Given the description of an element on the screen output the (x, y) to click on. 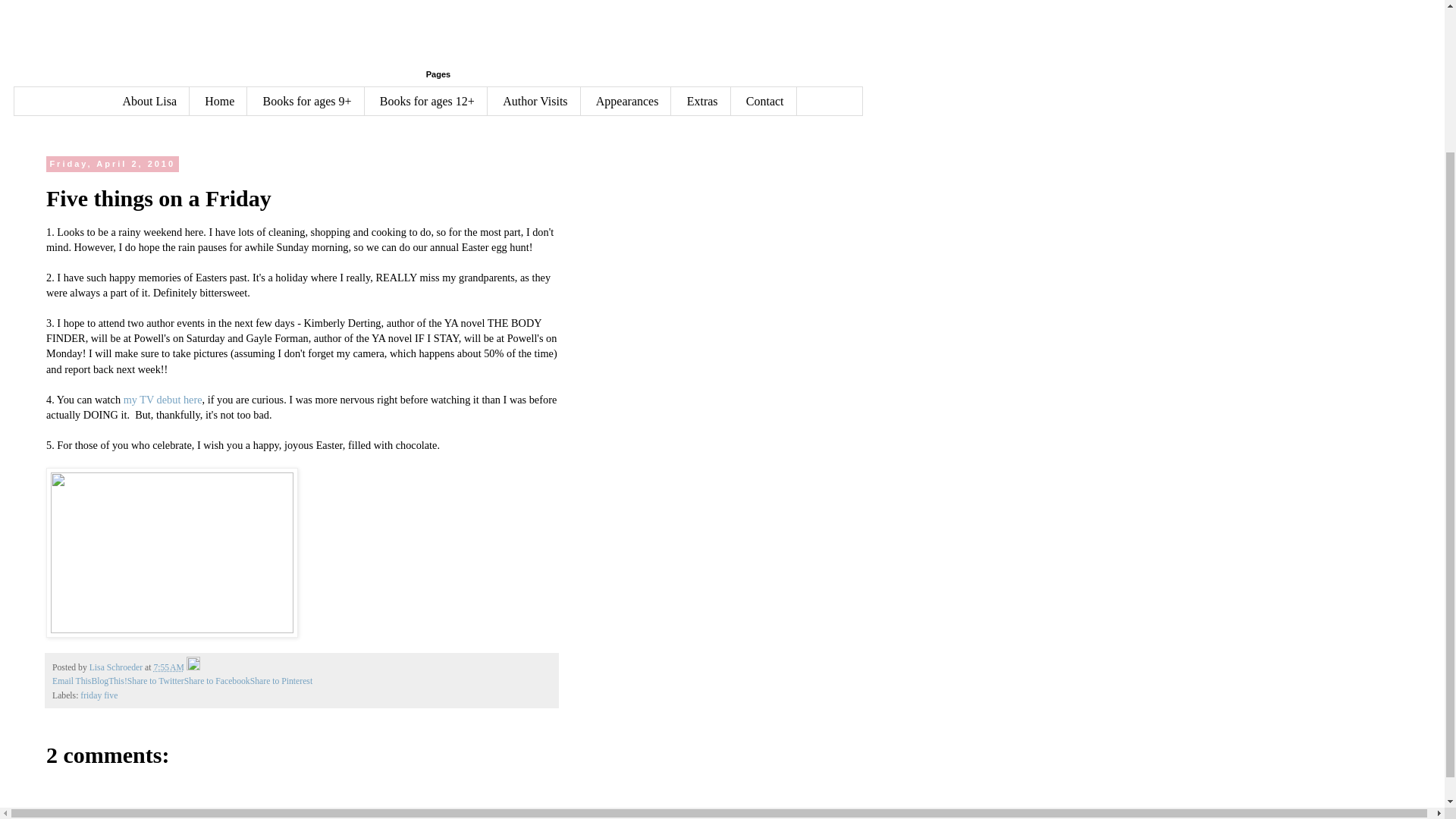
my TV debut here (162, 399)
friday five (98, 696)
author profile (116, 667)
Email This (71, 681)
Share to Twitter (156, 681)
Author Visits (534, 100)
Edit Post (193, 667)
Email This (71, 681)
BlogThis! (108, 681)
